Given the description of an element on the screen output the (x, y) to click on. 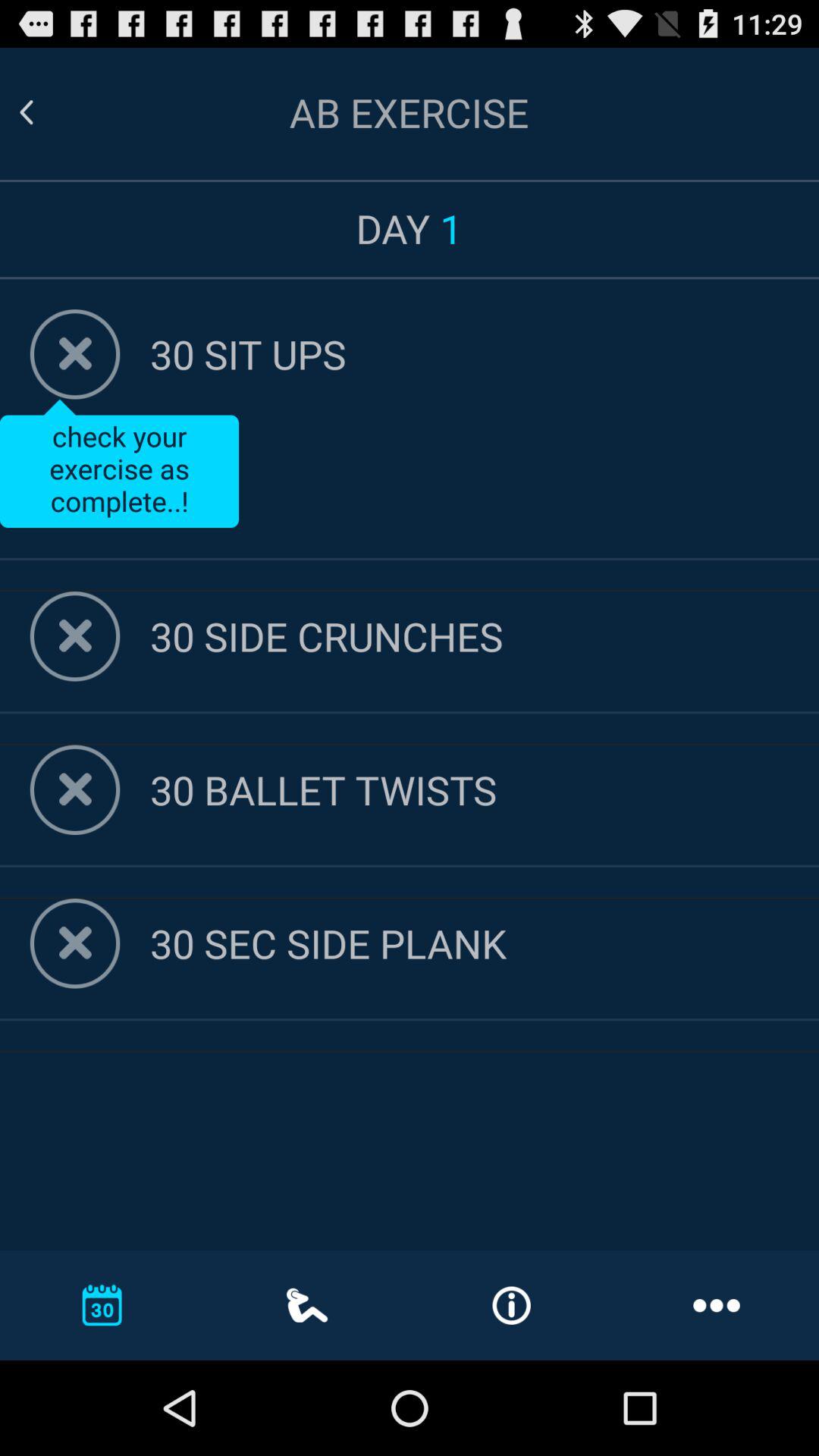
check exercise done (75, 354)
